Given the description of an element on the screen output the (x, y) to click on. 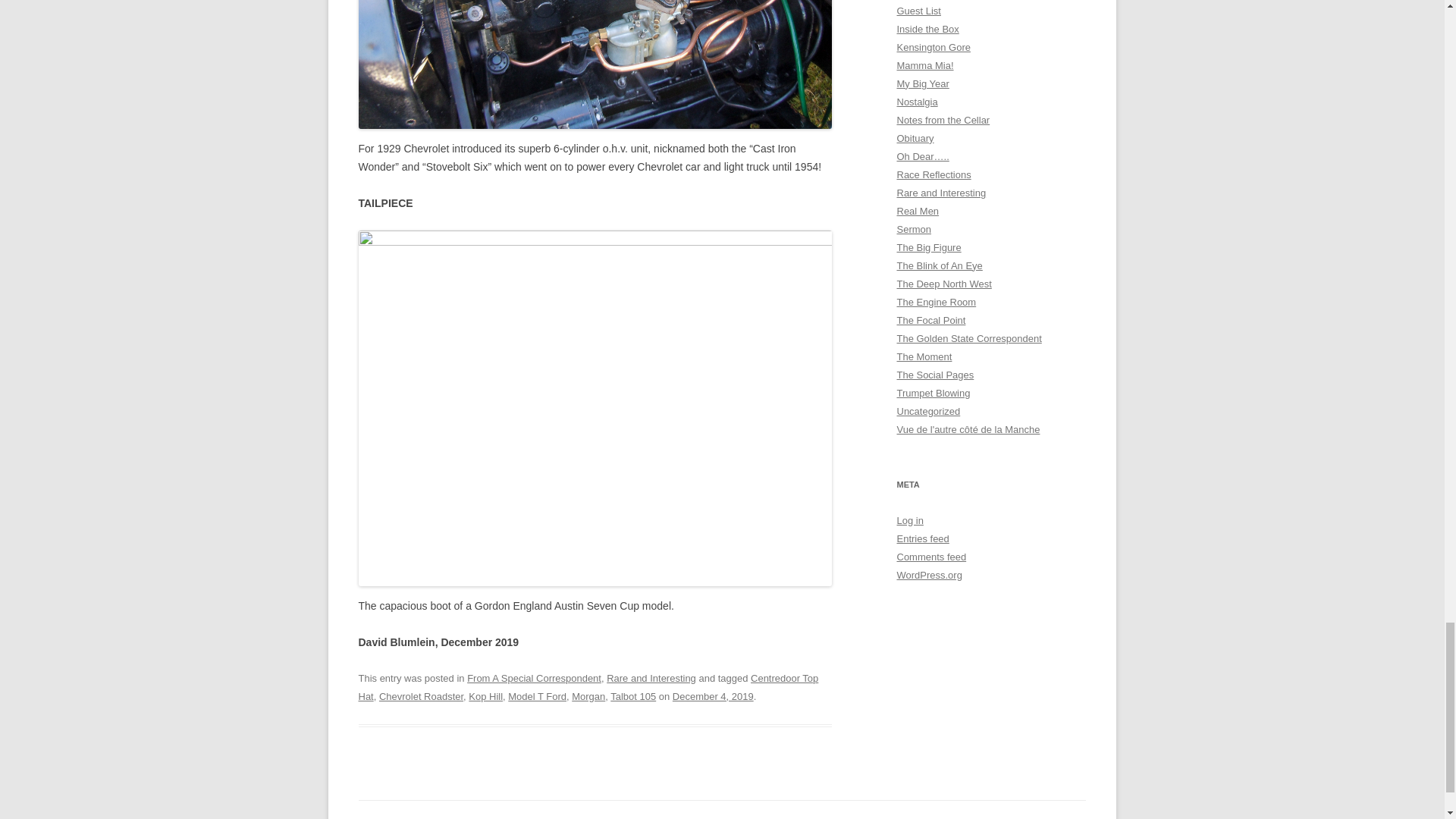
Model T Ford (537, 696)
7:58 pm (713, 696)
Rare and Interesting (651, 677)
Talbot 105 (633, 696)
From A Special Correspondent (534, 677)
Centredoor Top Hat (588, 686)
Kop Hill (485, 696)
Morgan (588, 696)
December 4, 2019 (713, 696)
Chevrolet Roadster (420, 696)
